Given the description of an element on the screen output the (x, y) to click on. 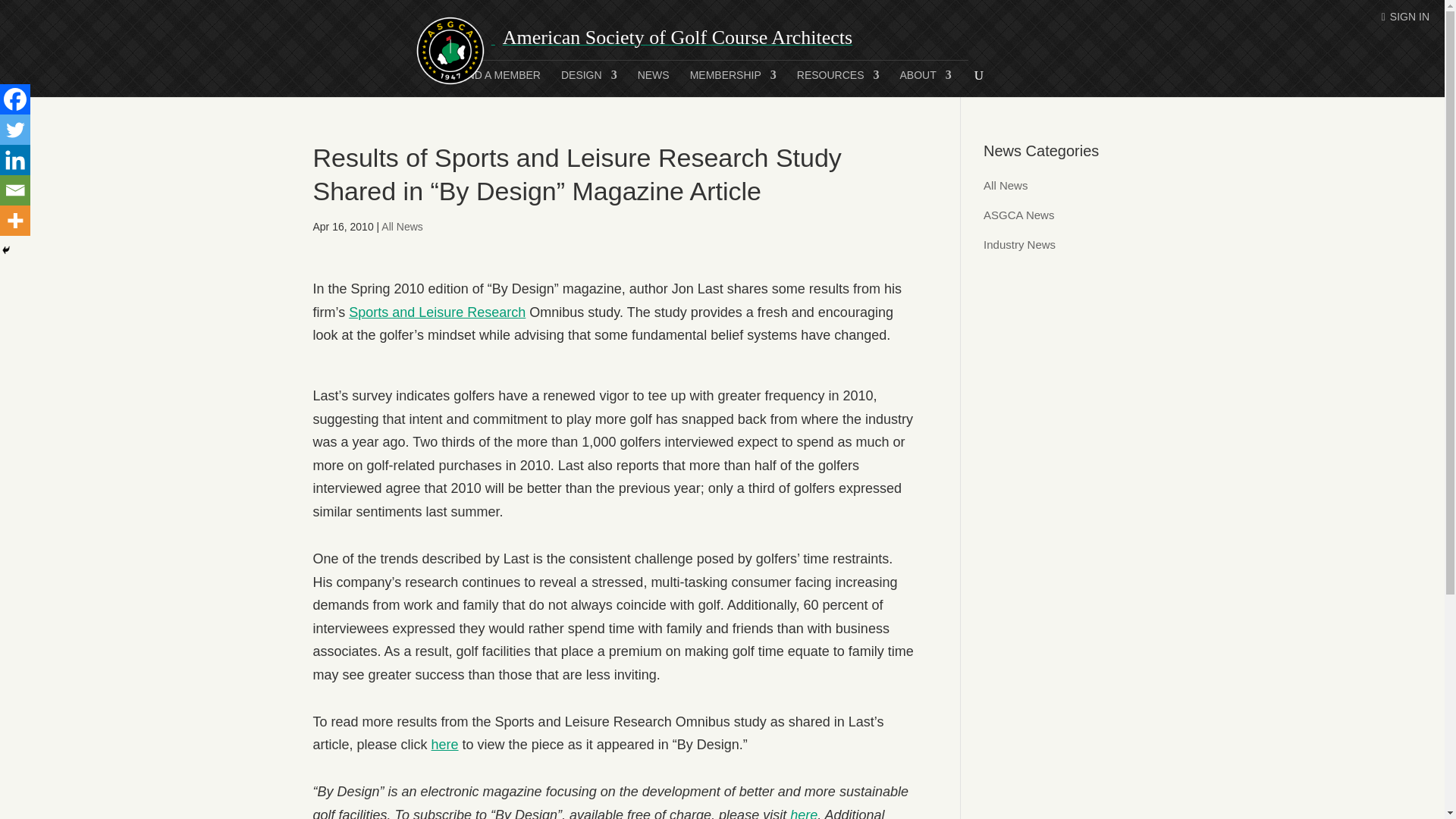
MEMBERSHIP (733, 83)
Facebook (15, 99)
NEWS (653, 83)
Twitter (15, 129)
Linkedin (15, 159)
News category housing all News articles. (1005, 185)
Email (15, 190)
RESOURCES (837, 83)
ABOUT (924, 83)
FIND A MEMBER (498, 83)
DESIGN (588, 83)
Hide (5, 250)
More (15, 220)
